Given the description of an element on the screen output the (x, y) to click on. 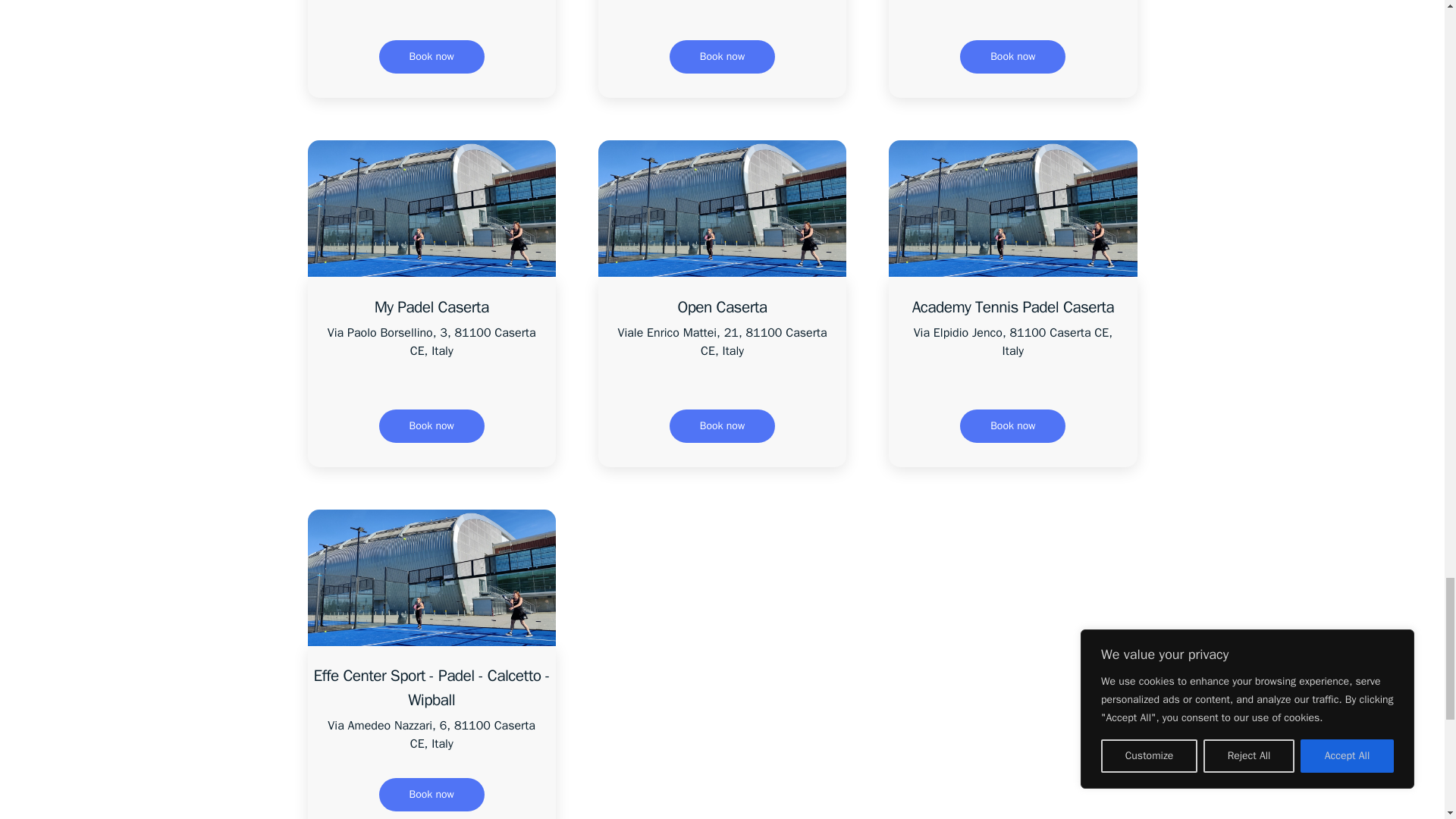
Book now (431, 426)
Book now (721, 426)
Book now (431, 56)
Book now (721, 56)
Book now (1012, 56)
